Given the description of an element on the screen output the (x, y) to click on. 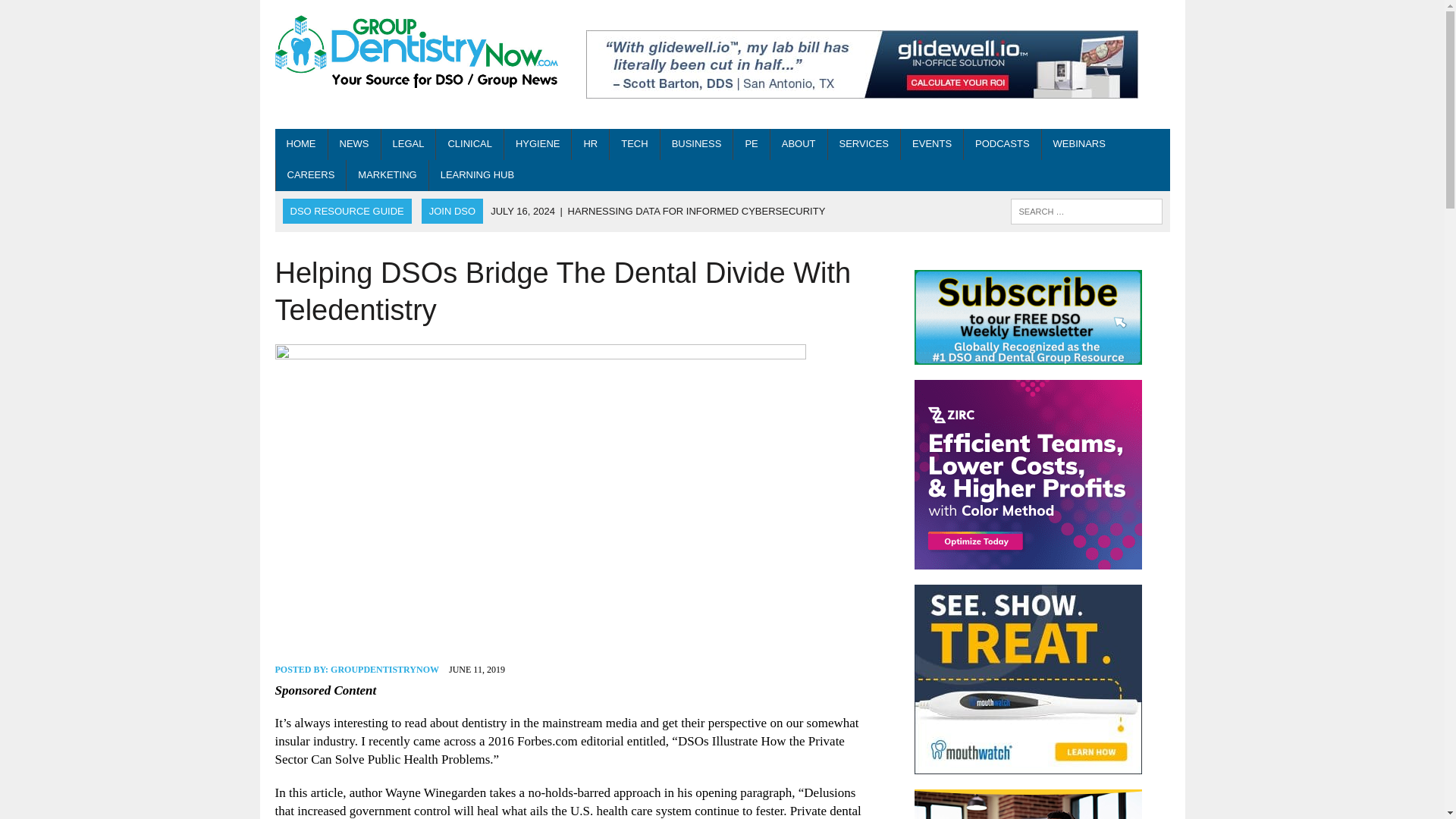
ABOUT (798, 143)
BUSINESS (697, 143)
SERVICES (864, 143)
WEBINARS (1079, 143)
NEWS (353, 143)
EVENTS (931, 143)
PE (750, 143)
HOME (300, 143)
Consulting, Funding, Aquistion, Education for the DSO space (864, 143)
PODCASTS (1002, 143)
Group Dentistry Now (416, 52)
TECH (634, 143)
CLINICAL (469, 143)
LEGAL (407, 143)
